Given the description of an element on the screen output the (x, y) to click on. 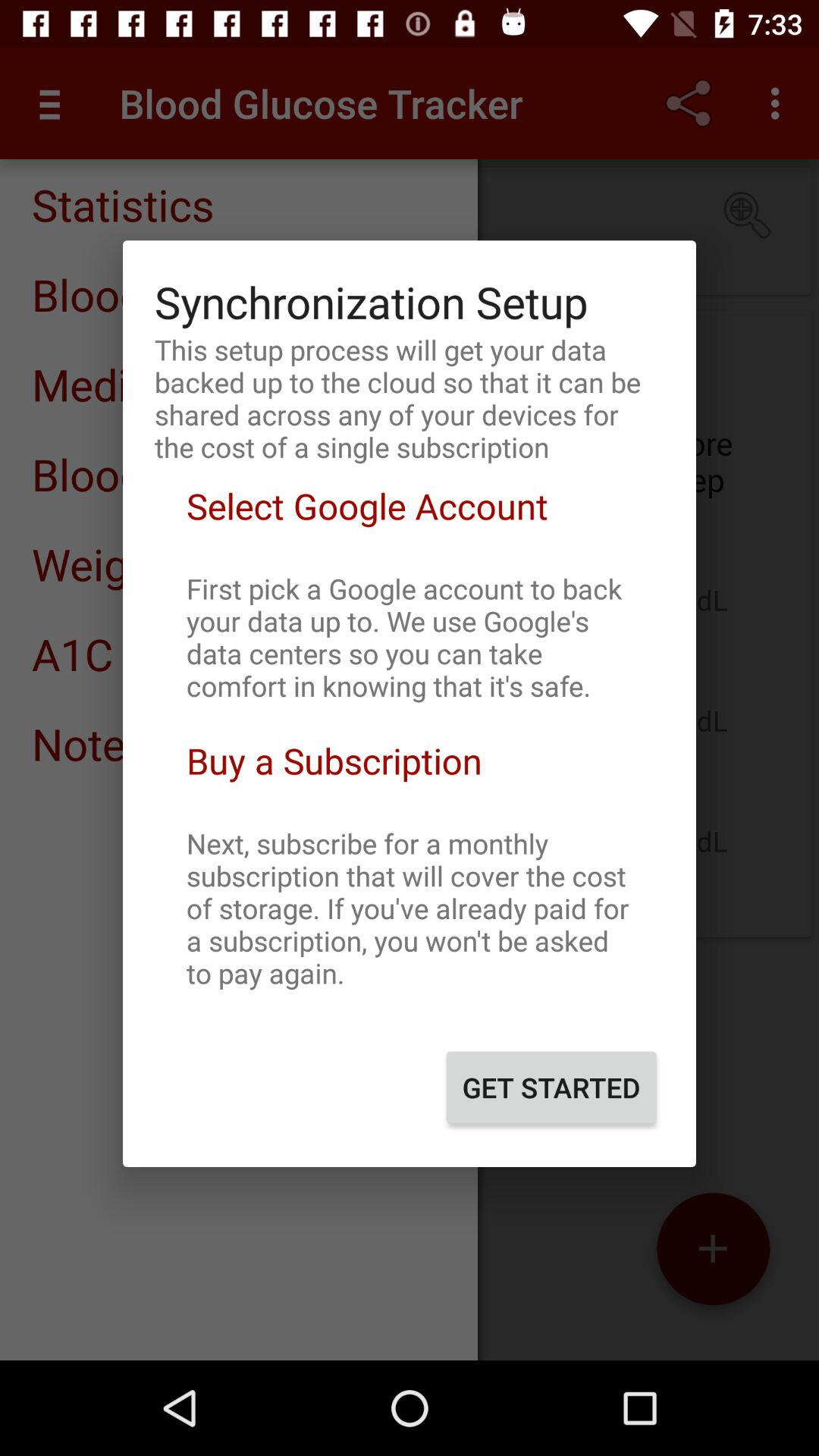
choose app below the next subscribe for (551, 1087)
